Given the description of an element on the screen output the (x, y) to click on. 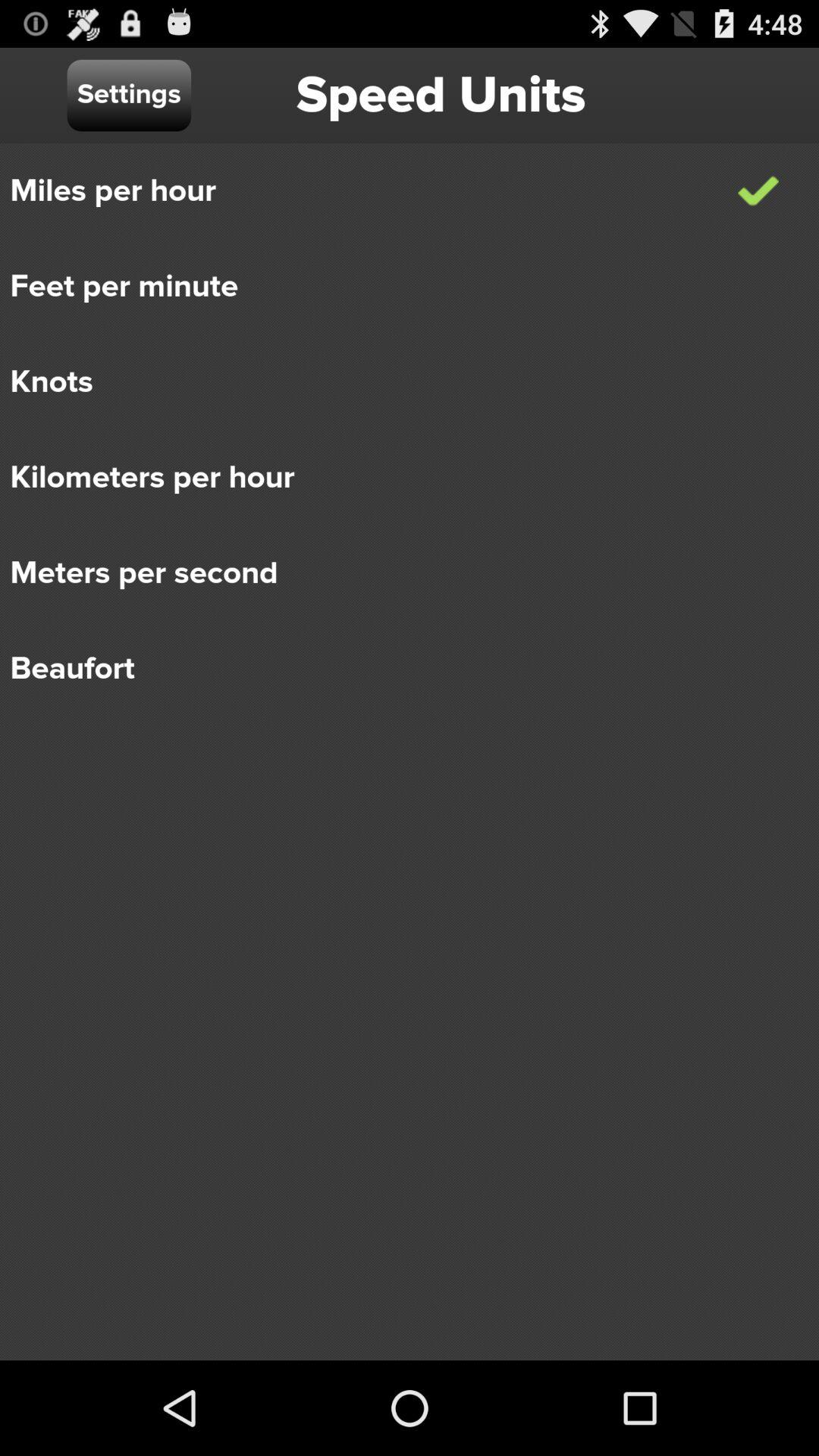
choose the icon above knots item (399, 286)
